Given the description of an element on the screen output the (x, y) to click on. 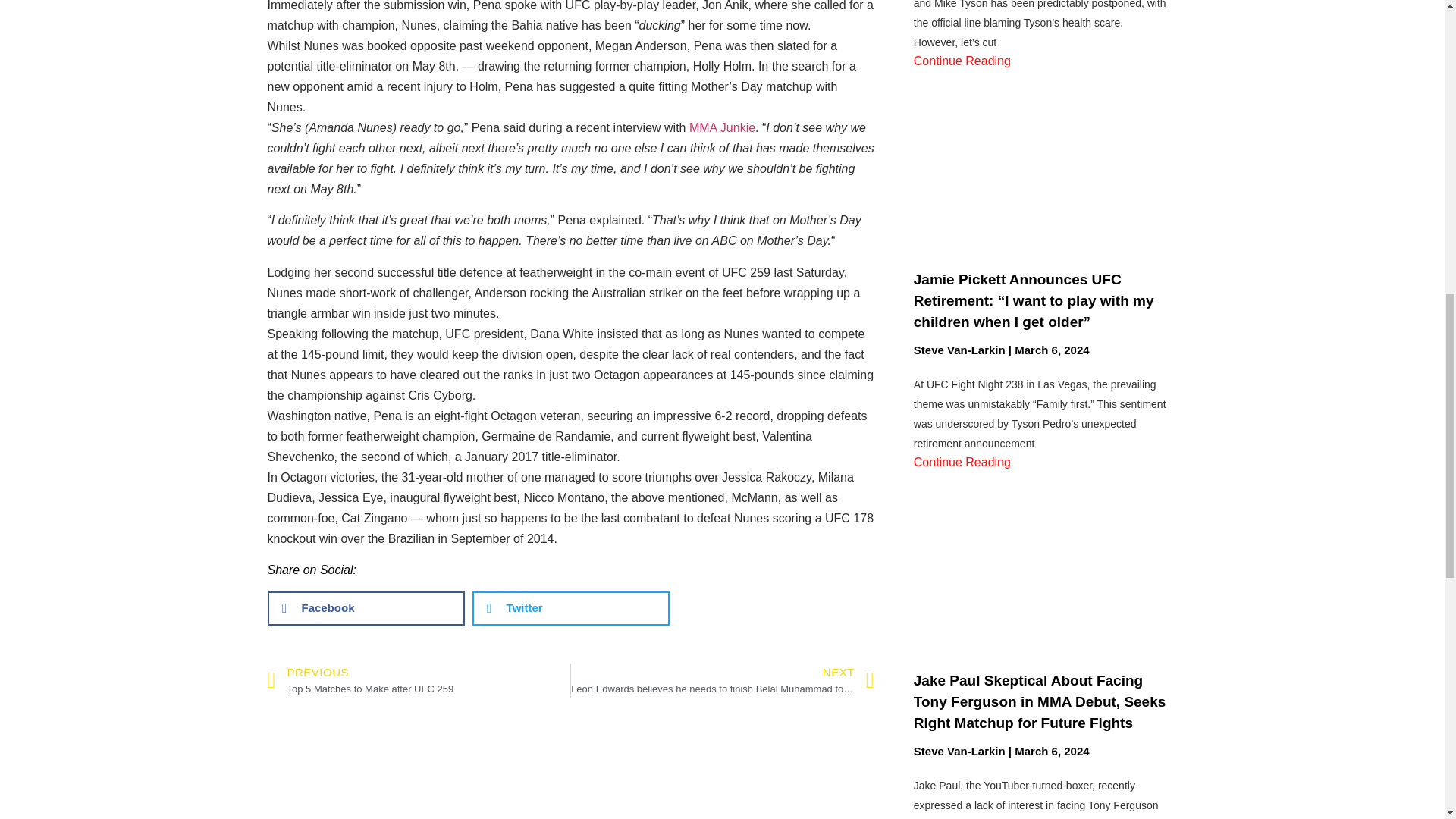
Continue Reading (418, 680)
MMA Junkie (962, 60)
Continue Reading (721, 127)
